Given the description of an element on the screen output the (x, y) to click on. 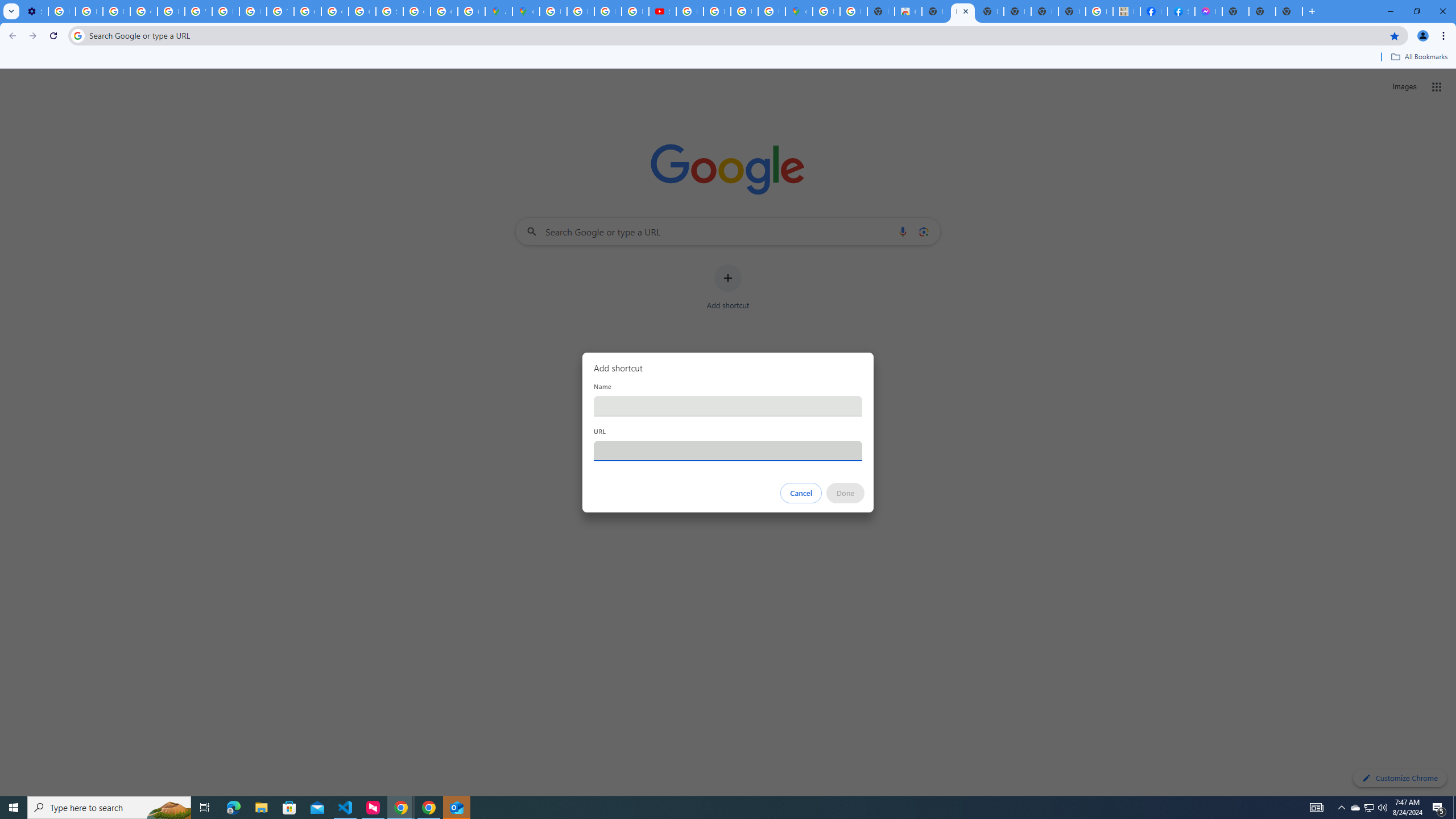
Done (845, 493)
How Chrome protects your passwords - Google Chrome Help (690, 11)
Sign in - Google Accounts (389, 11)
URL (727, 450)
Messenger (1208, 11)
Miley Cyrus | Facebook (1153, 11)
Subscriptions - YouTube (662, 11)
New Tab (1289, 11)
Google Maps (799, 11)
